Given the description of an element on the screen output the (x, y) to click on. 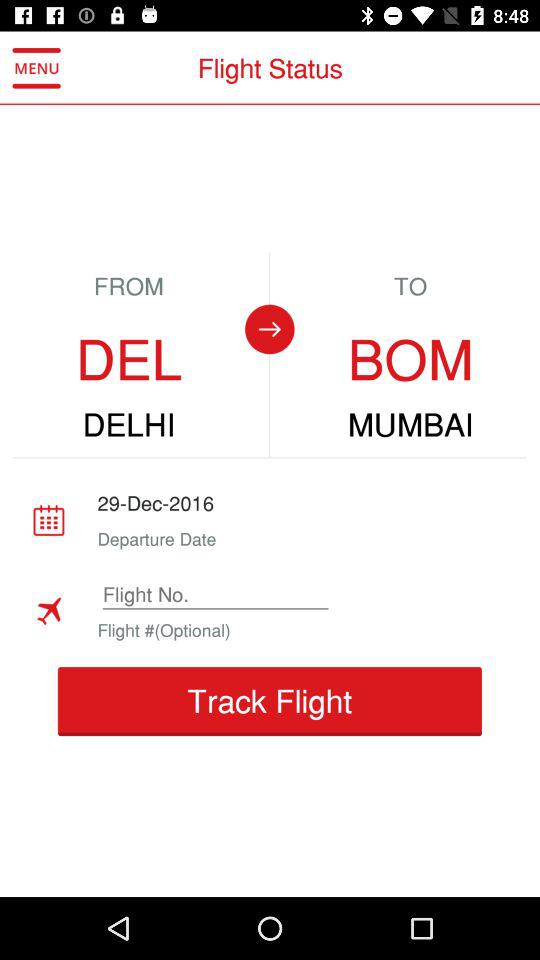
paste flight no (215, 594)
